Given the description of an element on the screen output the (x, y) to click on. 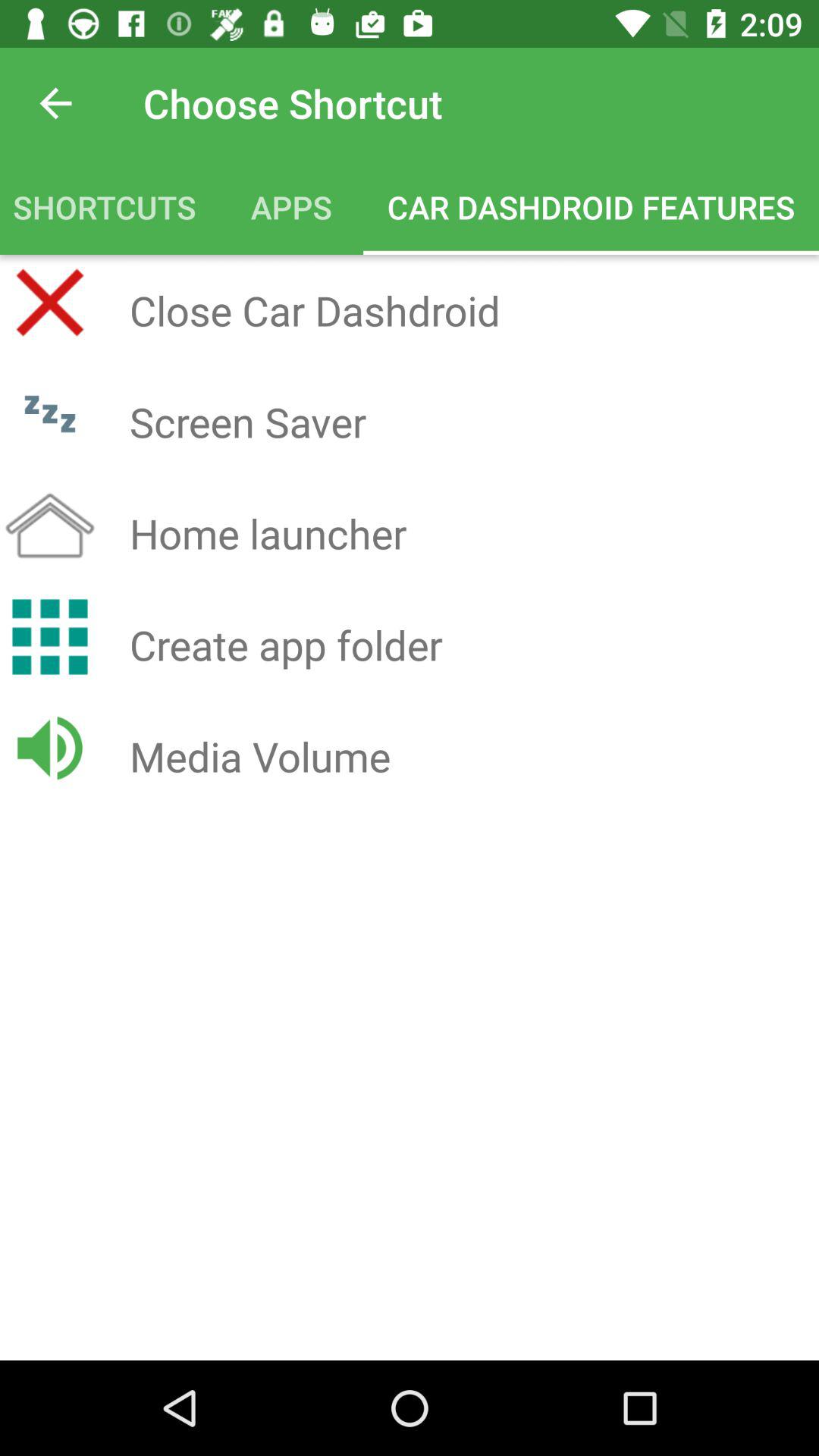
turn on the item to the left of the choose shortcut item (55, 103)
